Given the description of an element on the screen output the (x, y) to click on. 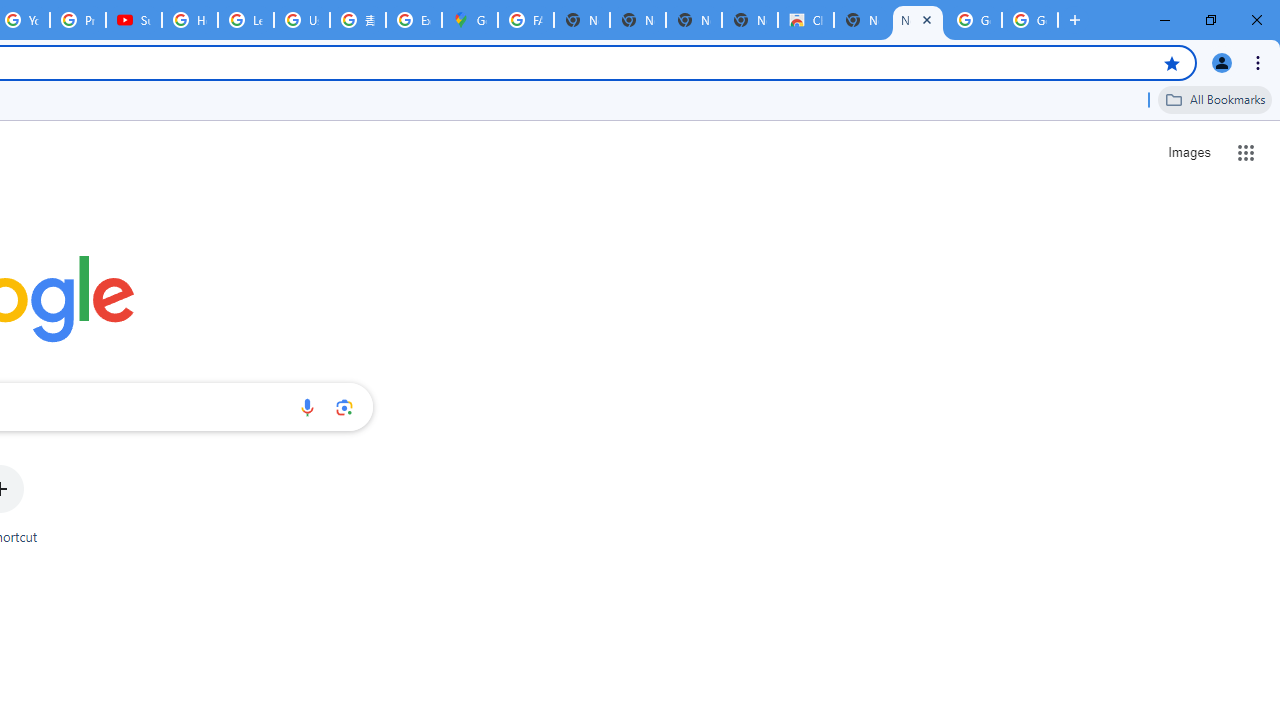
Subscriptions - YouTube (134, 20)
Chrome Web Store (806, 20)
Google Images (1030, 20)
Explore new street-level details - Google Maps Help (413, 20)
Google Images (973, 20)
How Chrome protects your passwords - Google Chrome Help (189, 20)
